Given the description of an element on the screen output the (x, y) to click on. 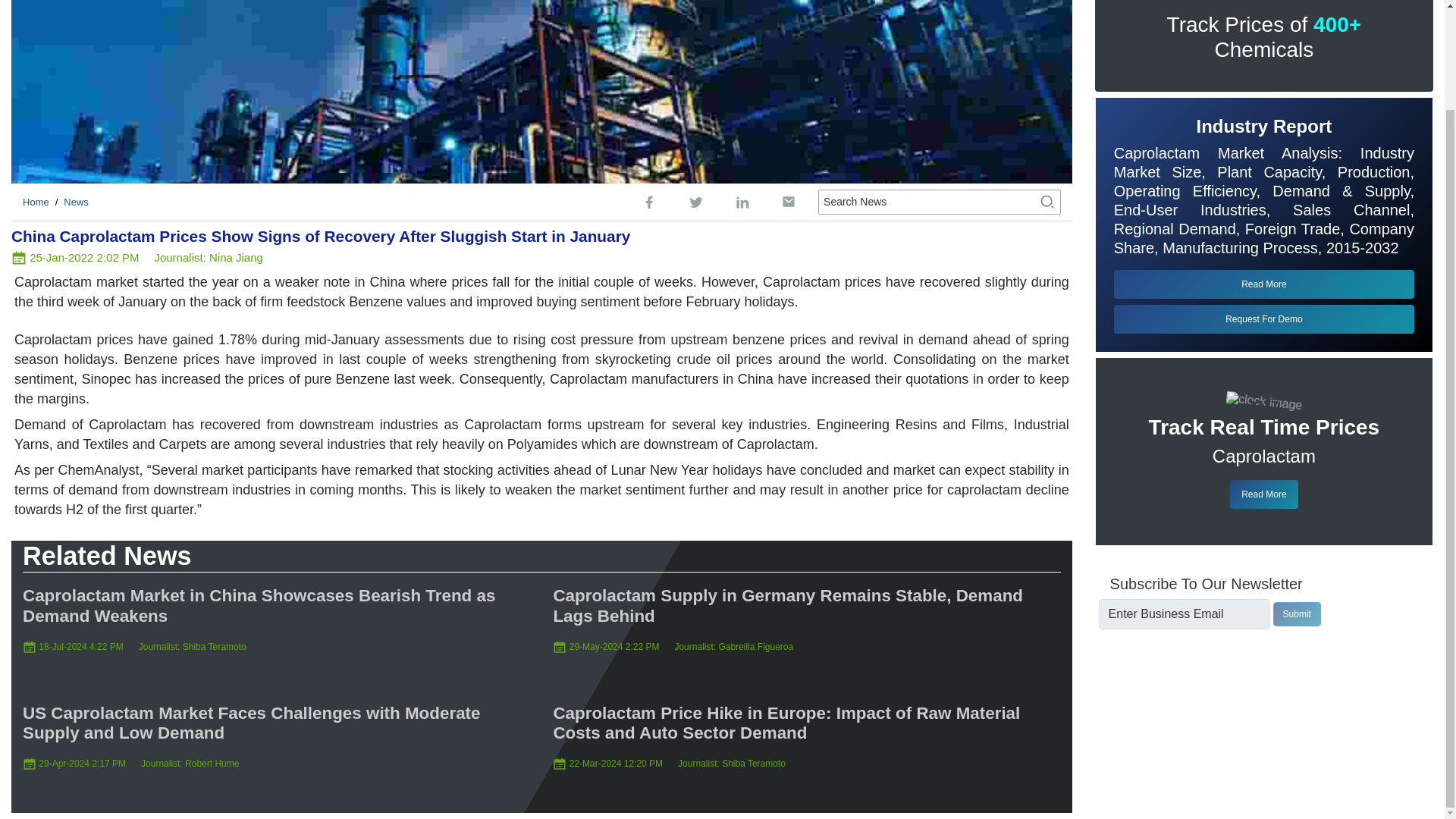
Read More (1263, 493)
Submit (1296, 613)
Home (36, 202)
Read More (1263, 284)
Request For Demo (1263, 318)
Submit (1296, 613)
